Given the description of an element on the screen output the (x, y) to click on. 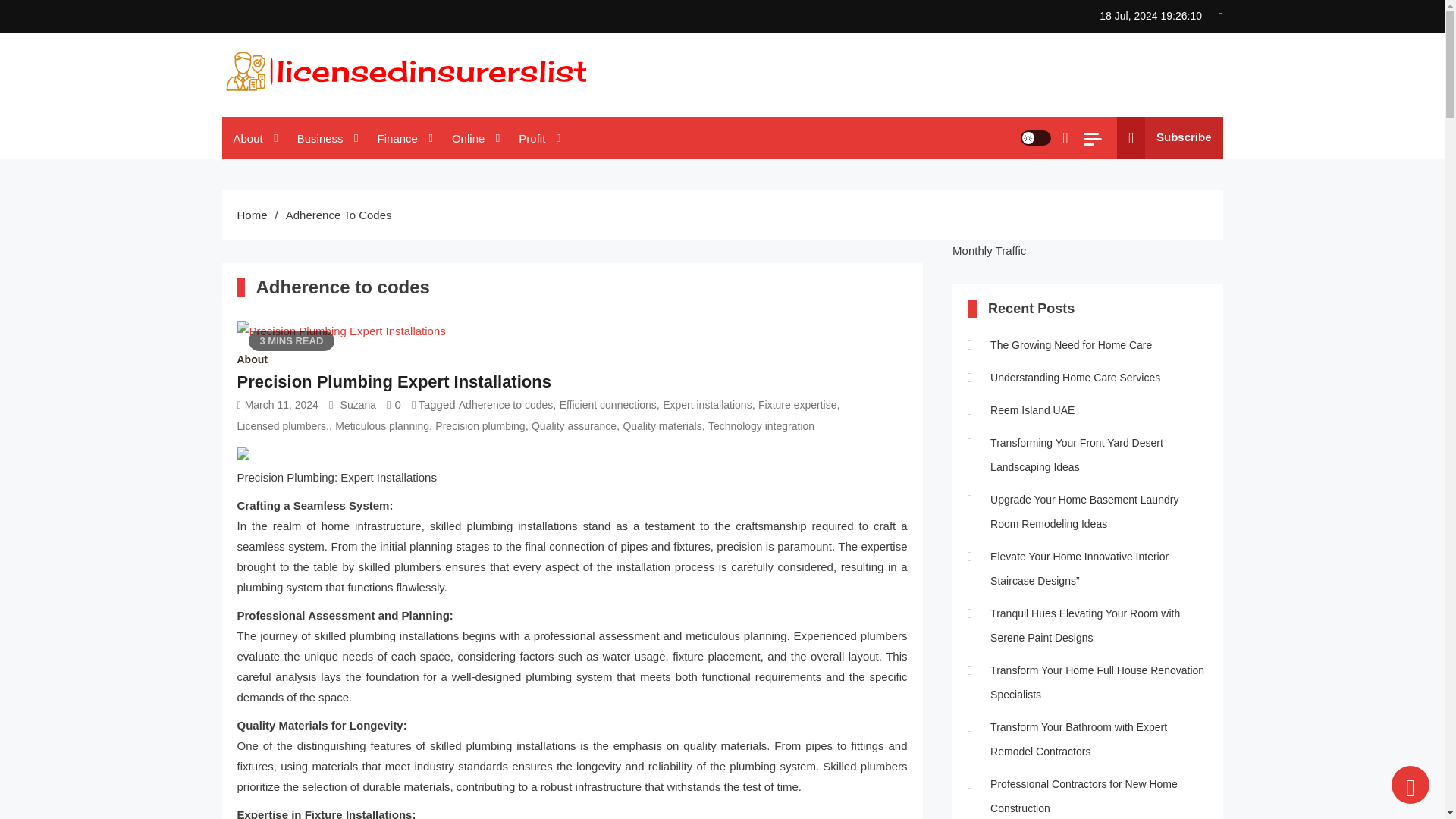
Business (325, 137)
Online (473, 137)
Profit (536, 137)
Licensedinsurerslist (331, 110)
site mode button (1035, 137)
About (253, 137)
Finance (403, 137)
